Given the description of an element on the screen output the (x, y) to click on. 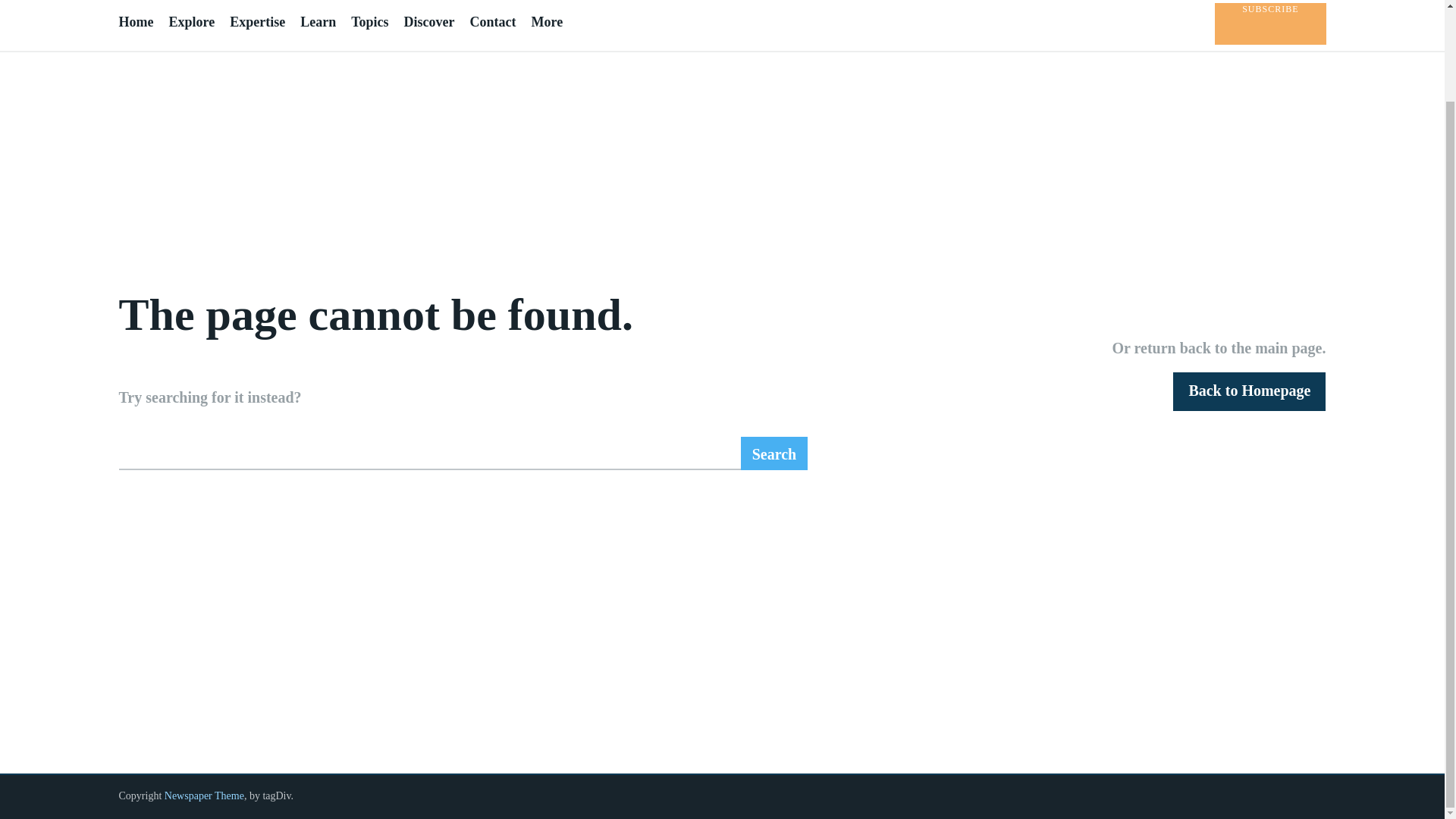
Learn (317, 22)
Home (134, 22)
Expertise (257, 22)
Explore (191, 22)
SUBSCRIBE (1269, 24)
Discover (428, 22)
Topics (369, 22)
More (546, 22)
Contact (491, 22)
